Given the description of an element on the screen output the (x, y) to click on. 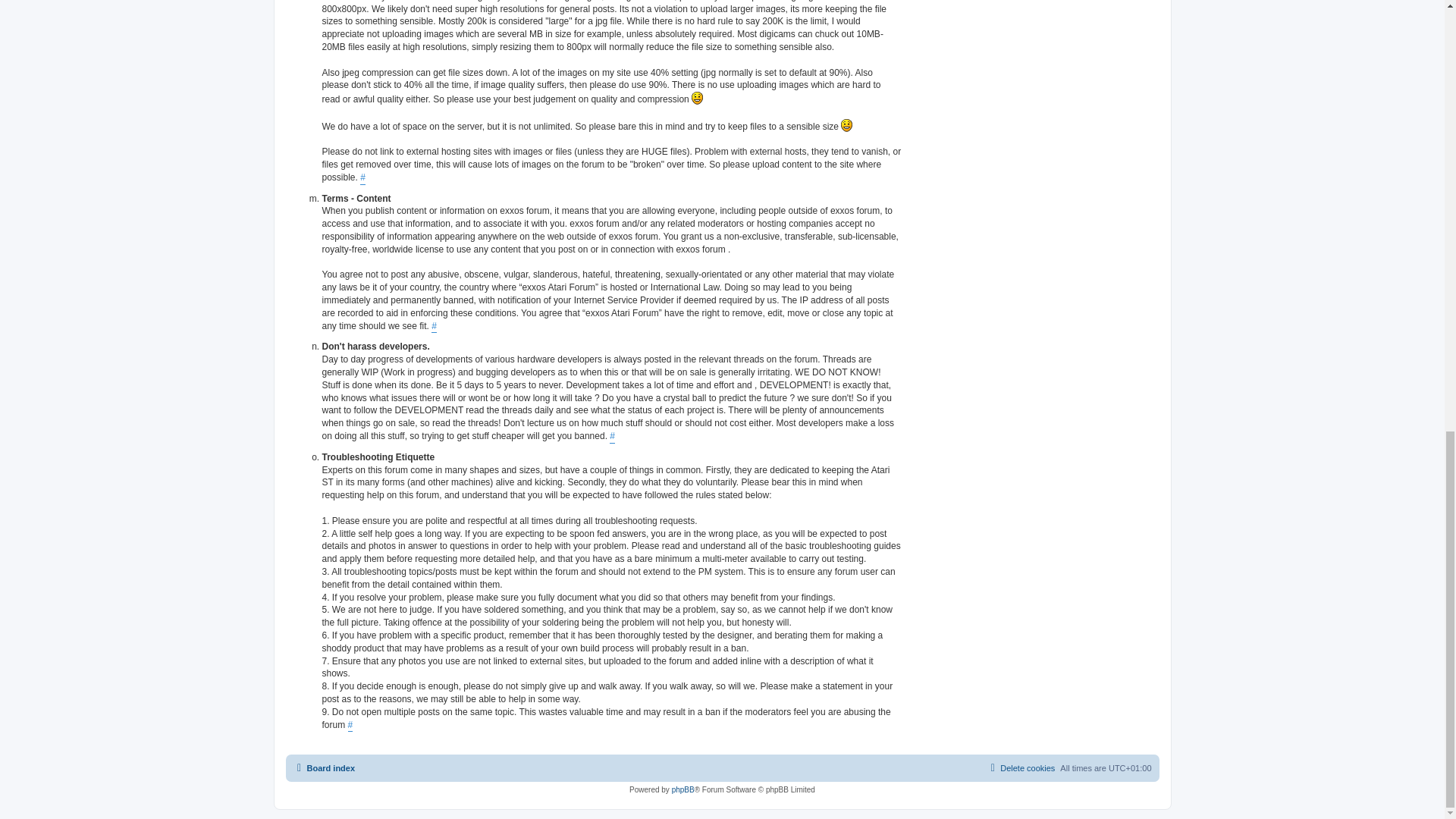
Smile (697, 97)
Smile (846, 124)
Board index (323, 768)
Board index (323, 768)
Delete cookies (1020, 768)
